Given the description of an element on the screen output the (x, y) to click on. 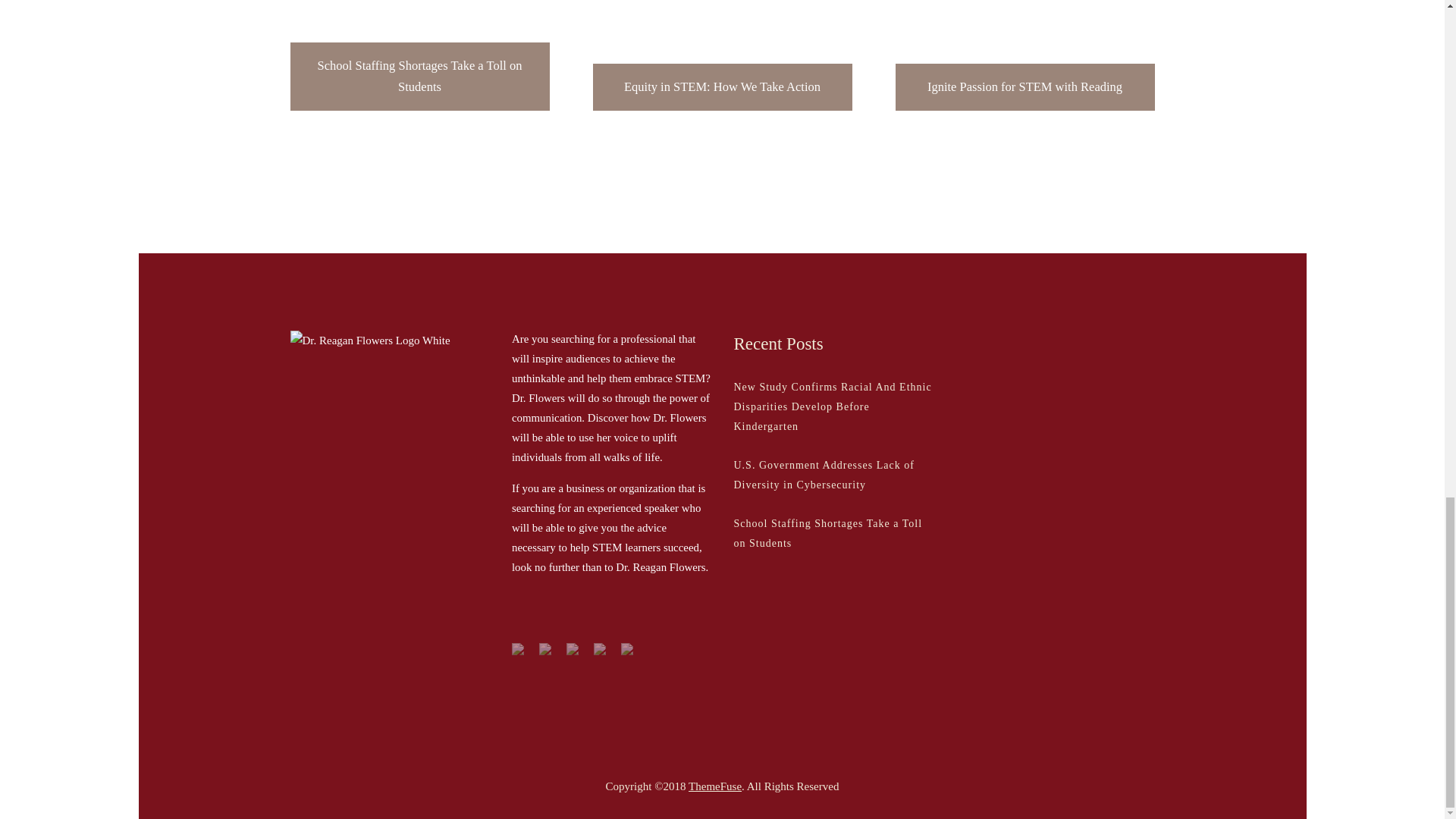
Equity in STEM: How We Take Action (721, 55)
Ignite Passion for STEM with Reading (1024, 55)
Ignite Passion for STEM with Reading (1024, 55)
School Staffing Shortages Take a Toll on Students (418, 55)
Equity in STEM: How We Take Action (721, 55)
School Staffing Shortages Take a Toll on Students (418, 55)
